Given the description of an element on the screen output the (x, y) to click on. 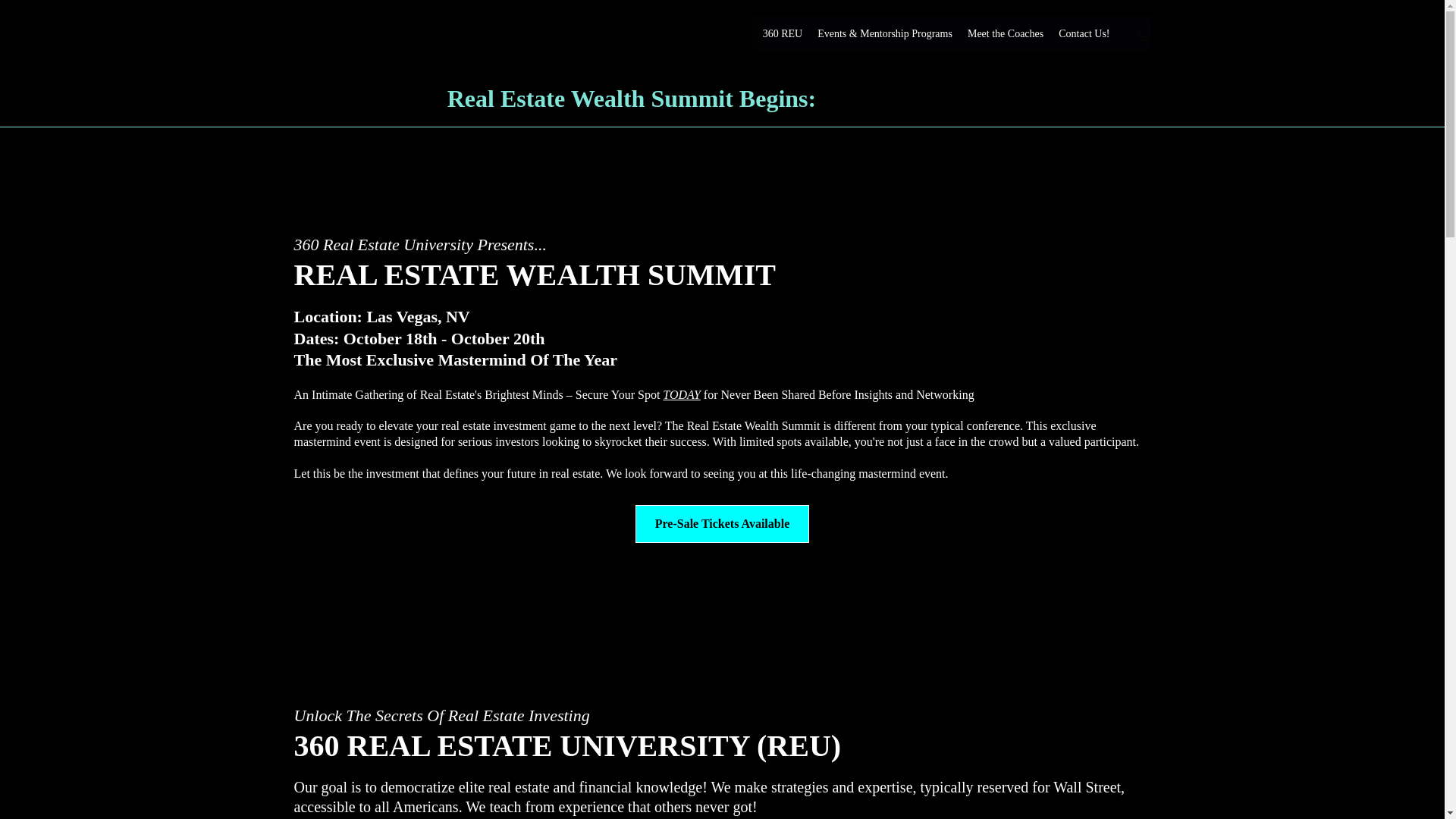
Contact Us! (1083, 34)
Pre-Sale Tickets Available (721, 523)
Meet the Coaches (1005, 34)
360 REU (782, 34)
